Given the description of an element on the screen output the (x, y) to click on. 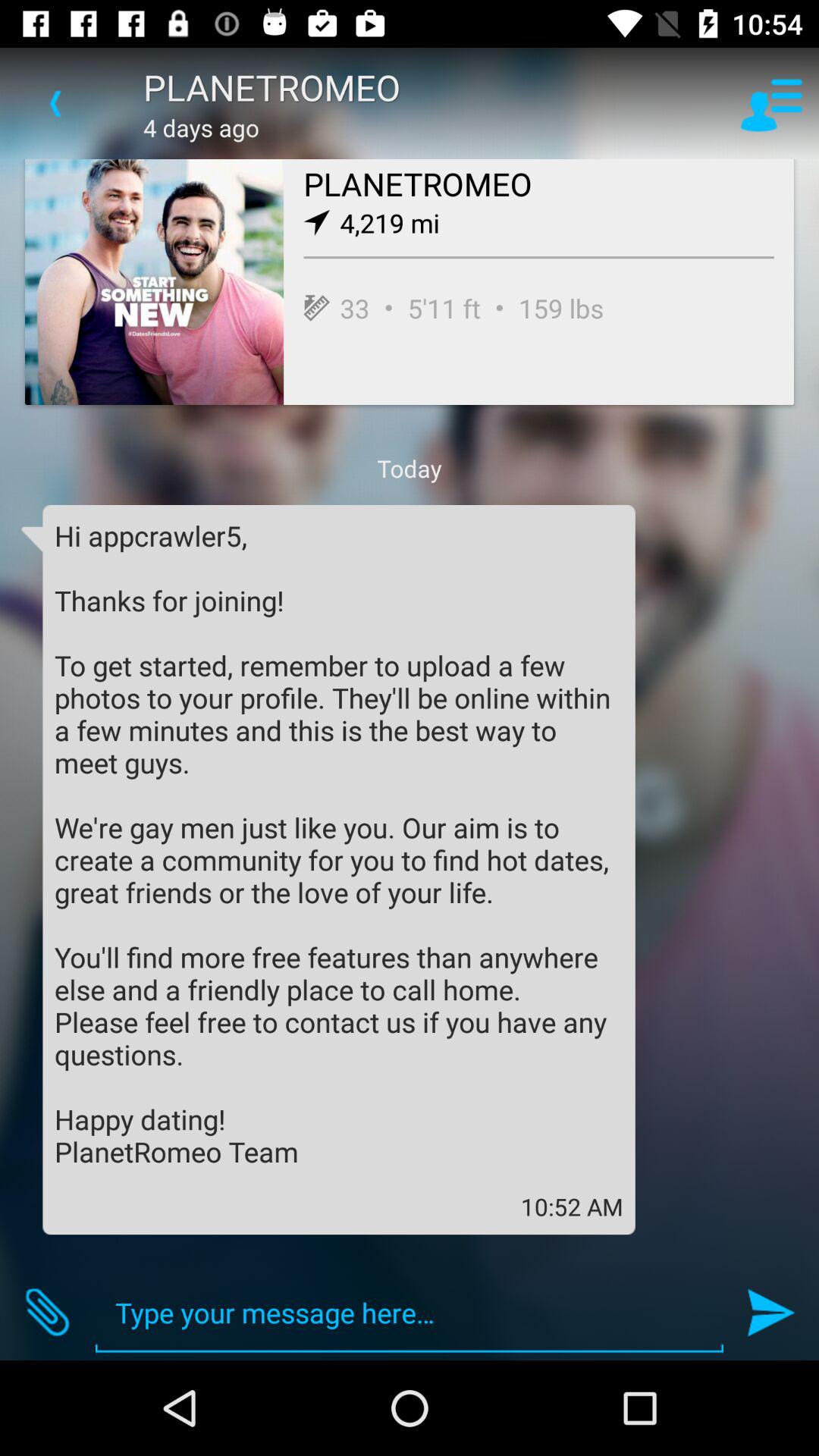
choose icon below 10:52 am icon (409, 1312)
